Given the description of an element on the screen output the (x, y) to click on. 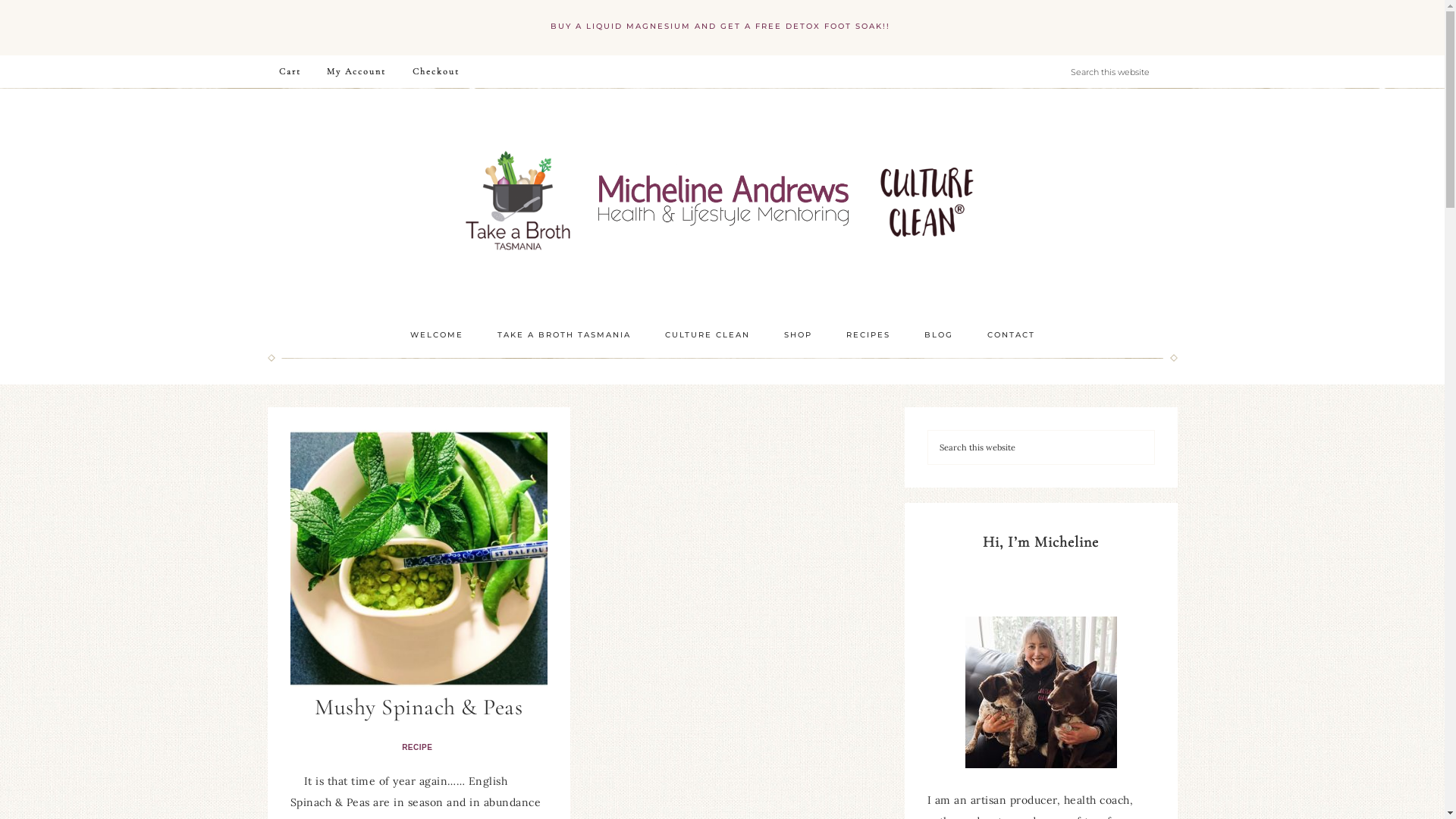
BLOG Element type: text (937, 335)
TAKE A BROTH TASMANIA Element type: text (564, 335)
RECIPE Element type: text (418, 747)
Mushy Spinach & Peas Element type: text (418, 707)
Search Element type: text (1154, 429)
WELCOME Element type: text (435, 335)
SHOP Element type: text (797, 335)
Search Element type: text (1176, 54)
CONTACT Element type: text (1011, 335)
Checkout Element type: text (435, 71)
RECIPES Element type: text (868, 335)
BUY A LIQUID MAGNESIUM AND GET A FREE DETOX FOOT SOAK!!  Element type: text (722, 26)
My Account Element type: text (356, 71)
CULTURE CLEAN Element type: text (706, 335)
Cart Element type: text (288, 71)
MICHELINE ANDREWS Element type: text (721, 202)
